Given the description of an element on the screen output the (x, y) to click on. 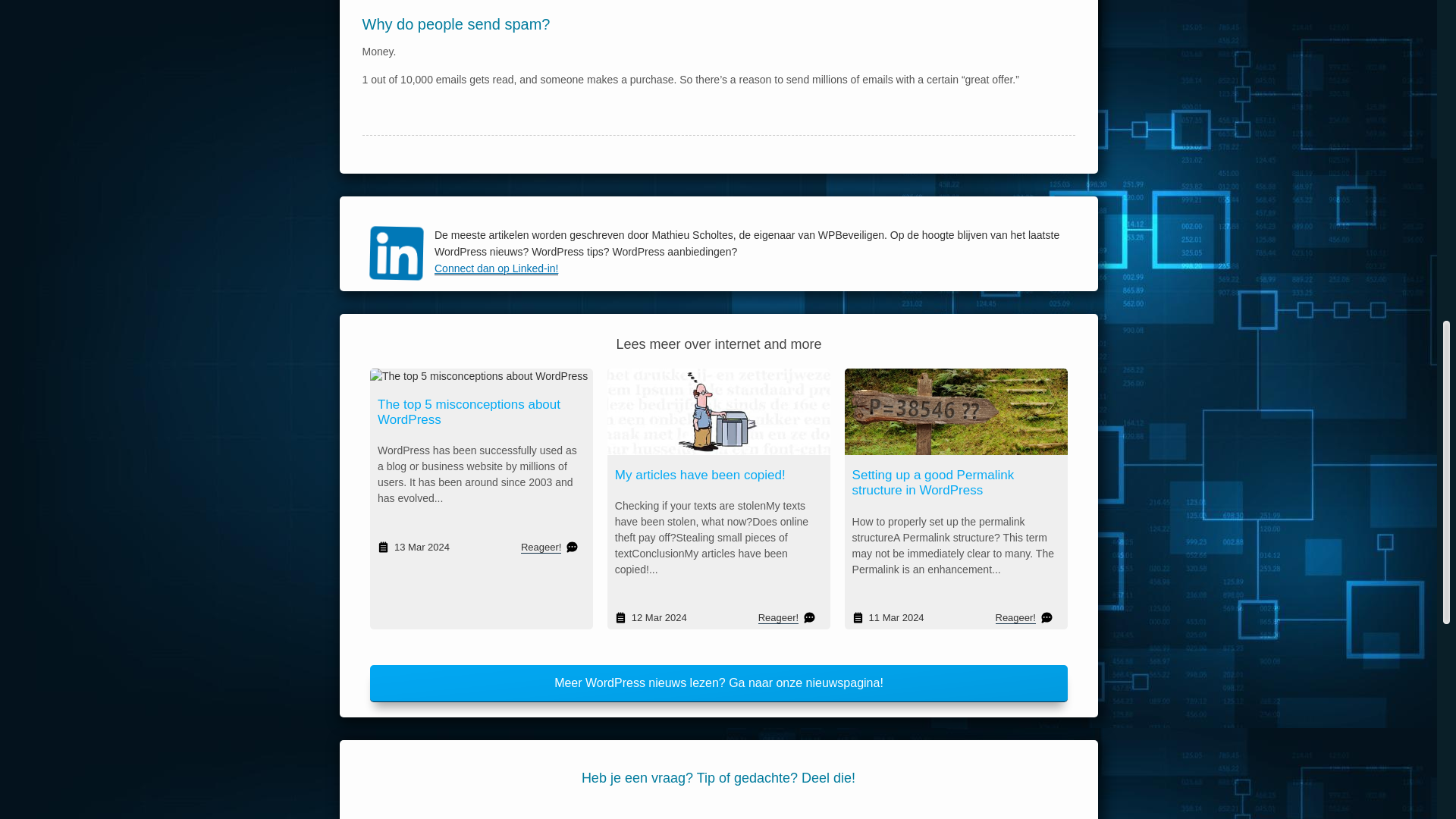
Reageer! (1014, 617)
Reageer! (542, 546)
Meer WordPress nieuws lezen? Ga naar onze nieuwspagina! (718, 683)
Connect dan op Linked-in! (562, 265)
Reageer! (777, 617)
